Given the description of an element on the screen output the (x, y) to click on. 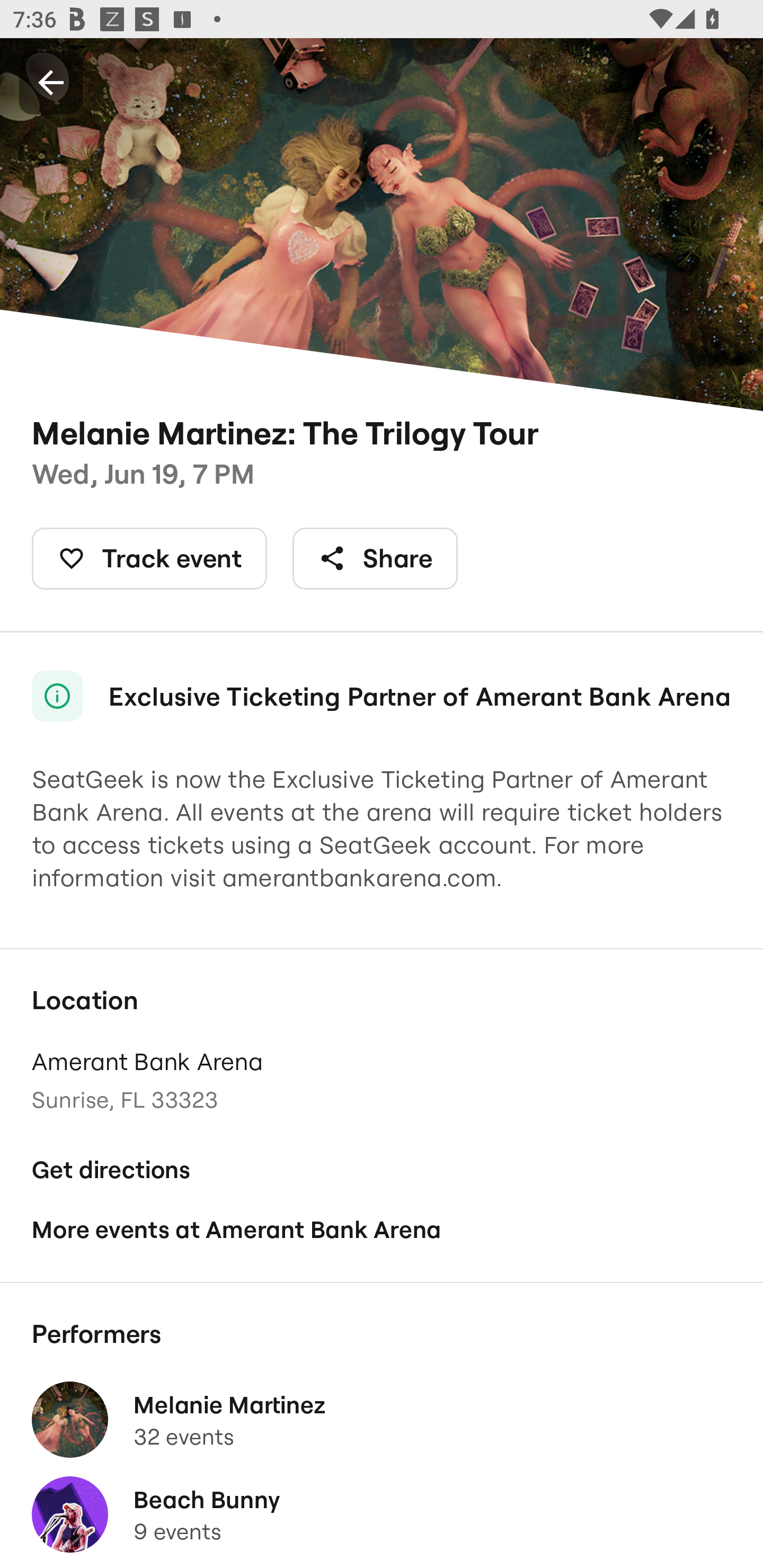
Back (50, 81)
Track event (149, 557)
Share (374, 557)
Get directions (381, 1169)
More events at Amerant Bank Arena (381, 1229)
Melanie Martinez 32 events (381, 1419)
Beach Bunny 9 events (381, 1514)
